Given the description of an element on the screen output the (x, y) to click on. 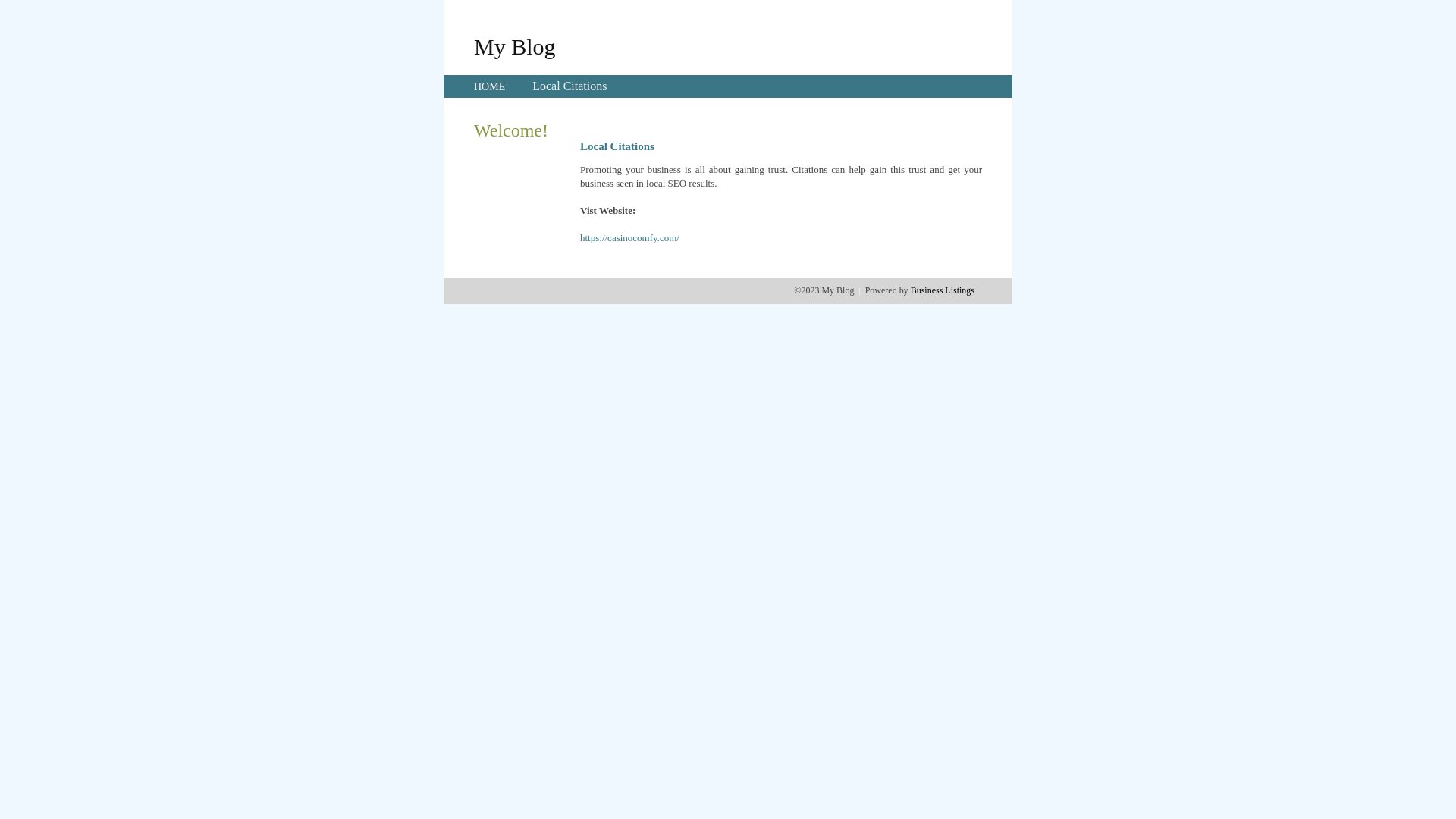
My Blog Element type: text (514, 46)
https://casinocomfy.com/ Element type: text (629, 237)
Business Listings Element type: text (942, 290)
Local Citations Element type: text (569, 85)
HOME Element type: text (489, 86)
